Given the description of an element on the screen output the (x, y) to click on. 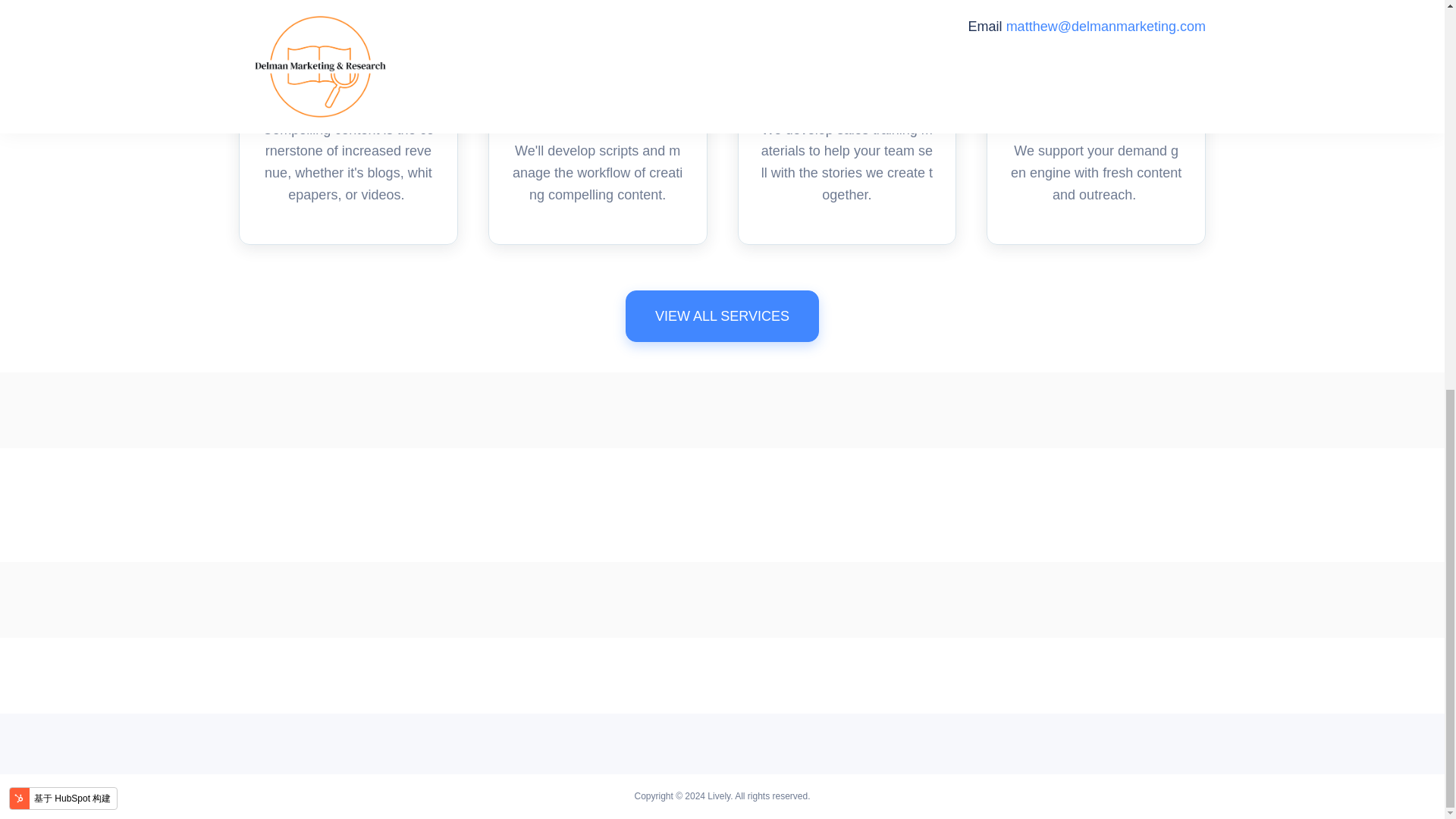
VIEW ALL SERVICES (722, 316)
